Given the description of an element on the screen output the (x, y) to click on. 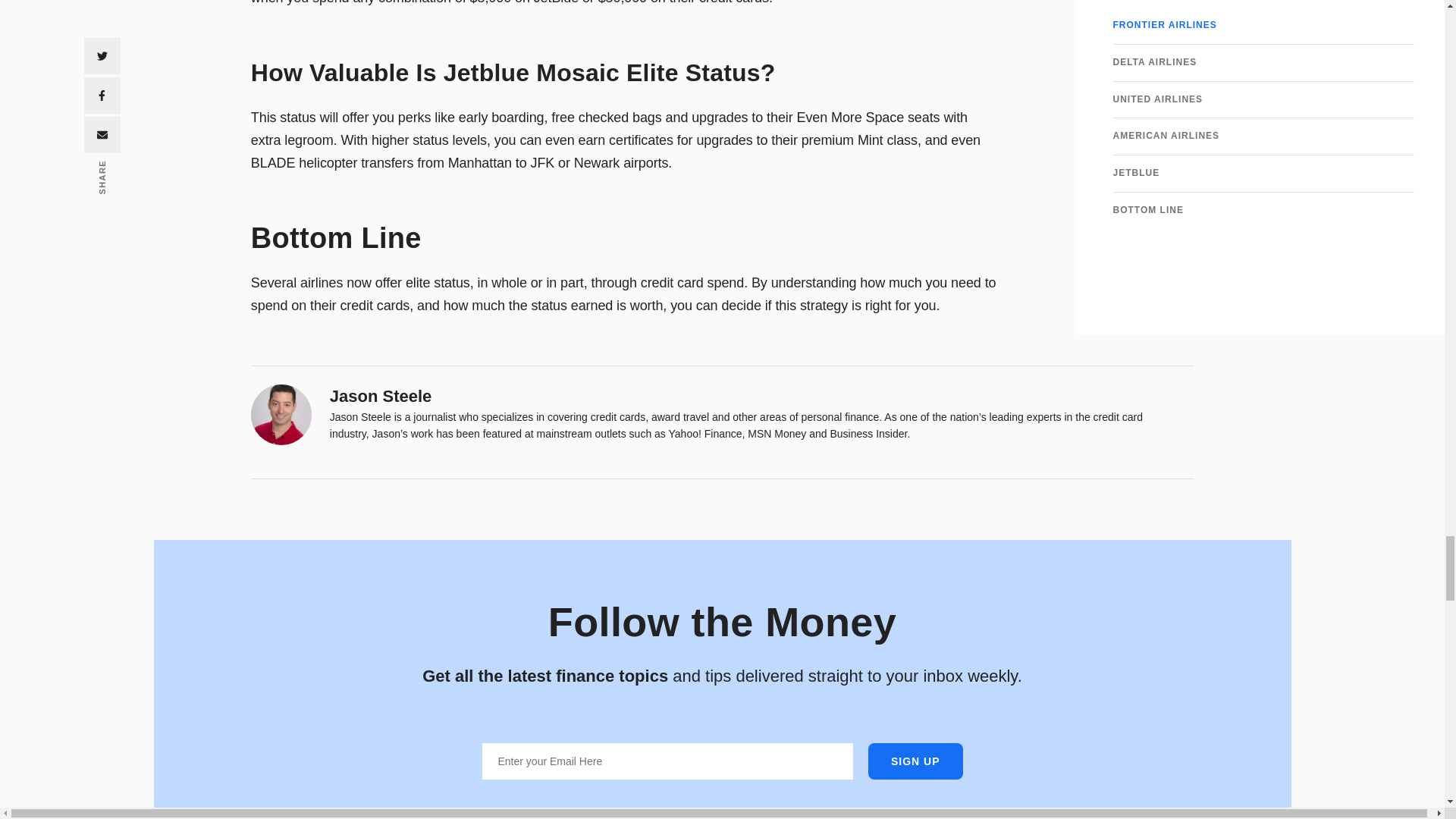
Sign Up (914, 760)
